Given the description of an element on the screen output the (x, y) to click on. 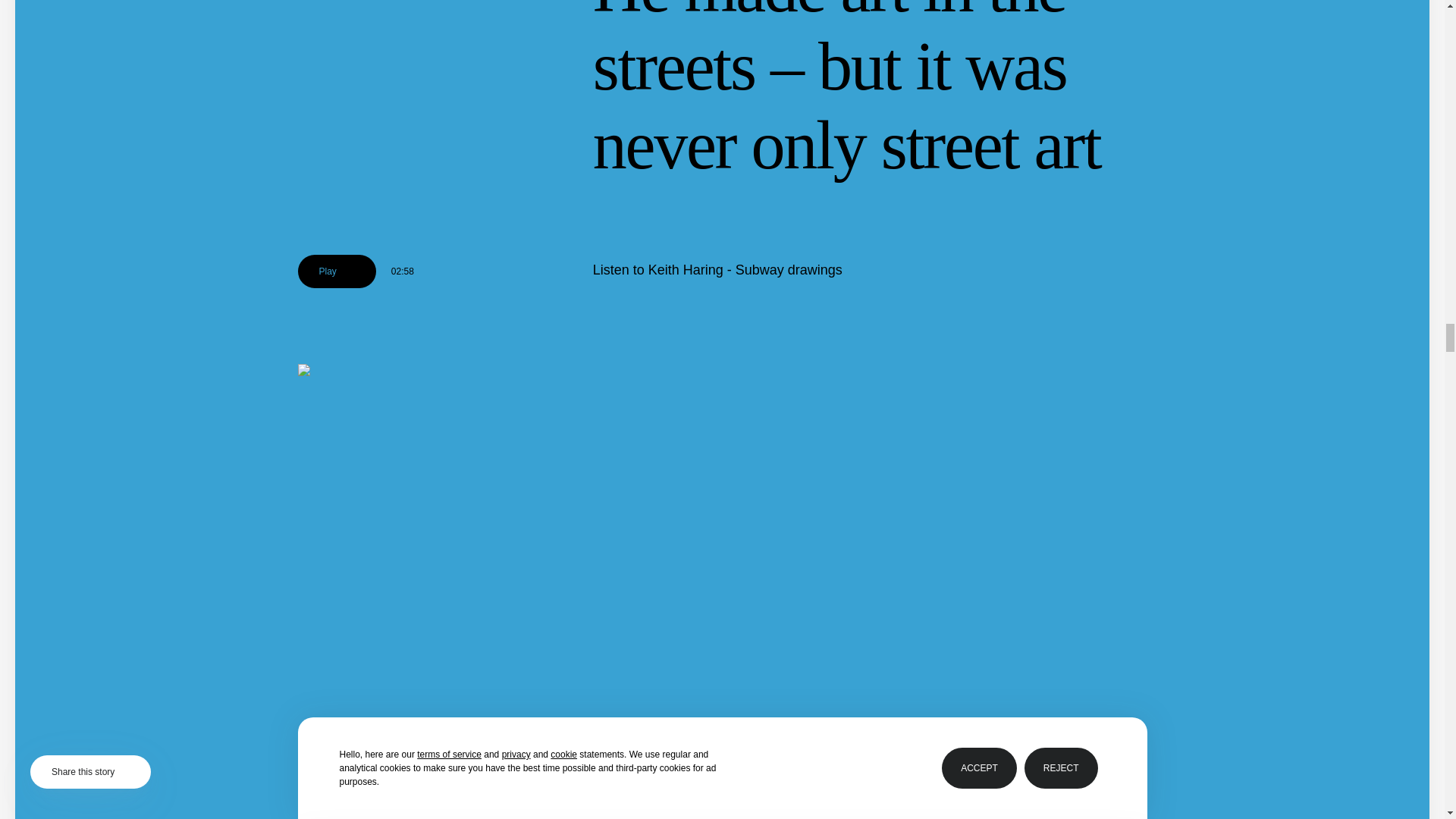
Play (336, 271)
